Given the description of an element on the screen output the (x, y) to click on. 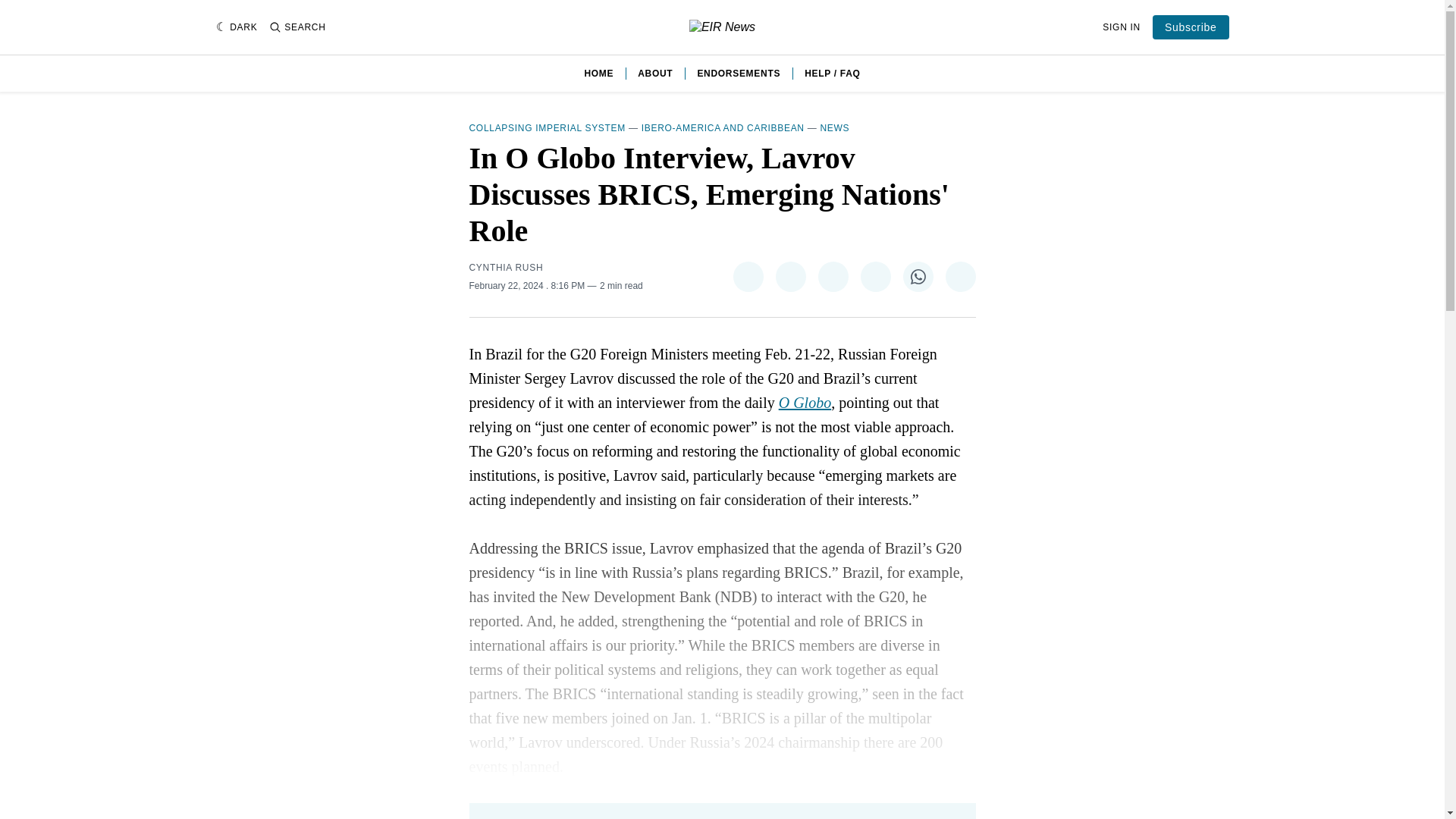
ABOUT (654, 73)
Share on Pinterest (831, 276)
IBERO-AMERICA AND CARIBBEAN (723, 127)
Share on LinkedIn (874, 276)
Share on Facebook (789, 276)
CYNTHIA RUSH (505, 267)
SIGN IN (1121, 27)
DARK (236, 27)
O Globo (804, 402)
Subscribe (1190, 27)
